Given the description of an element on the screen output the (x, y) to click on. 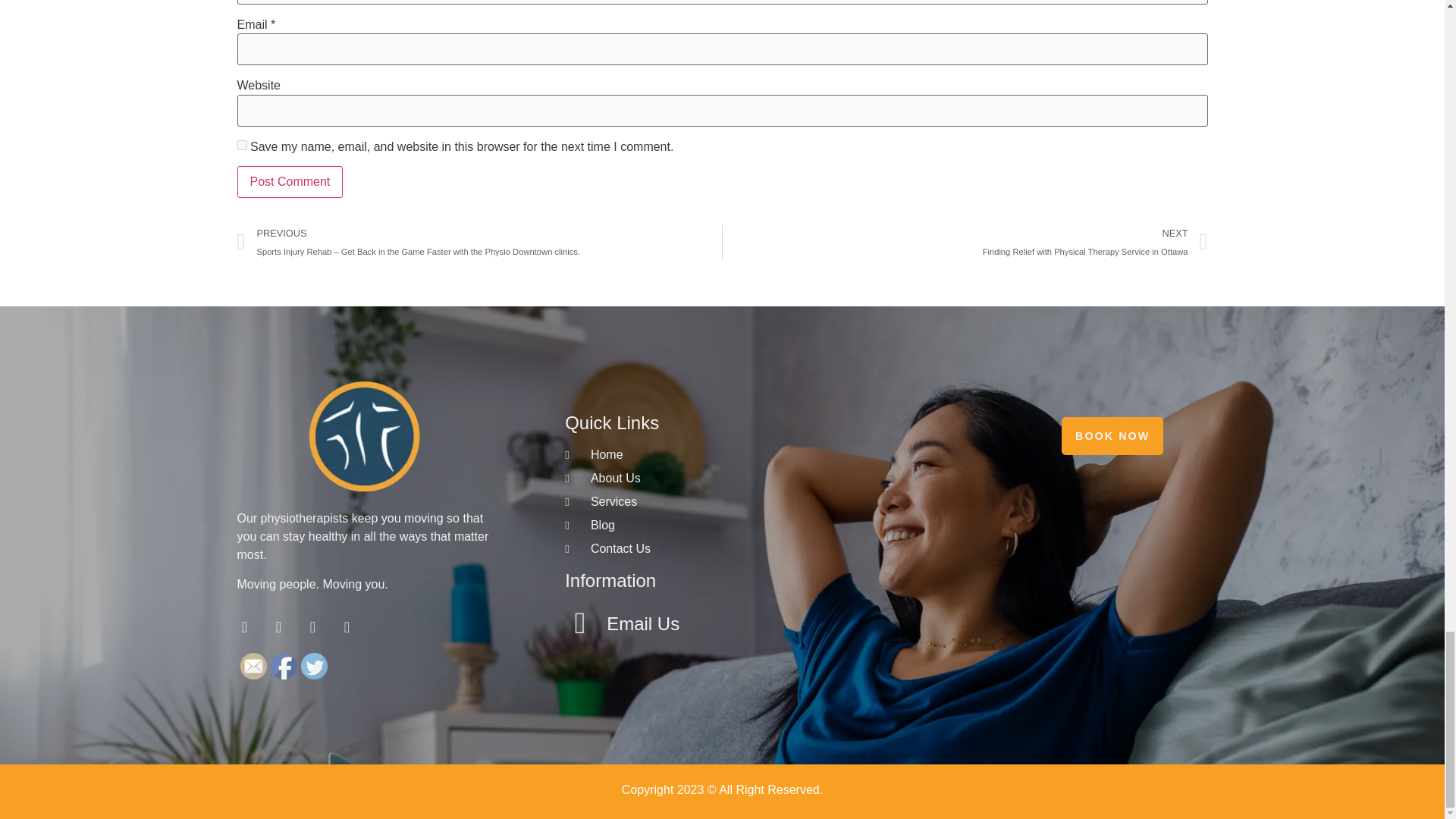
Home (727, 454)
yes (240, 144)
Post Comment (288, 182)
Follow by Email (253, 665)
Facebook (965, 242)
About Us (283, 665)
Post Comment (727, 478)
Twitter (288, 182)
